Given the description of an element on the screen output the (x, y) to click on. 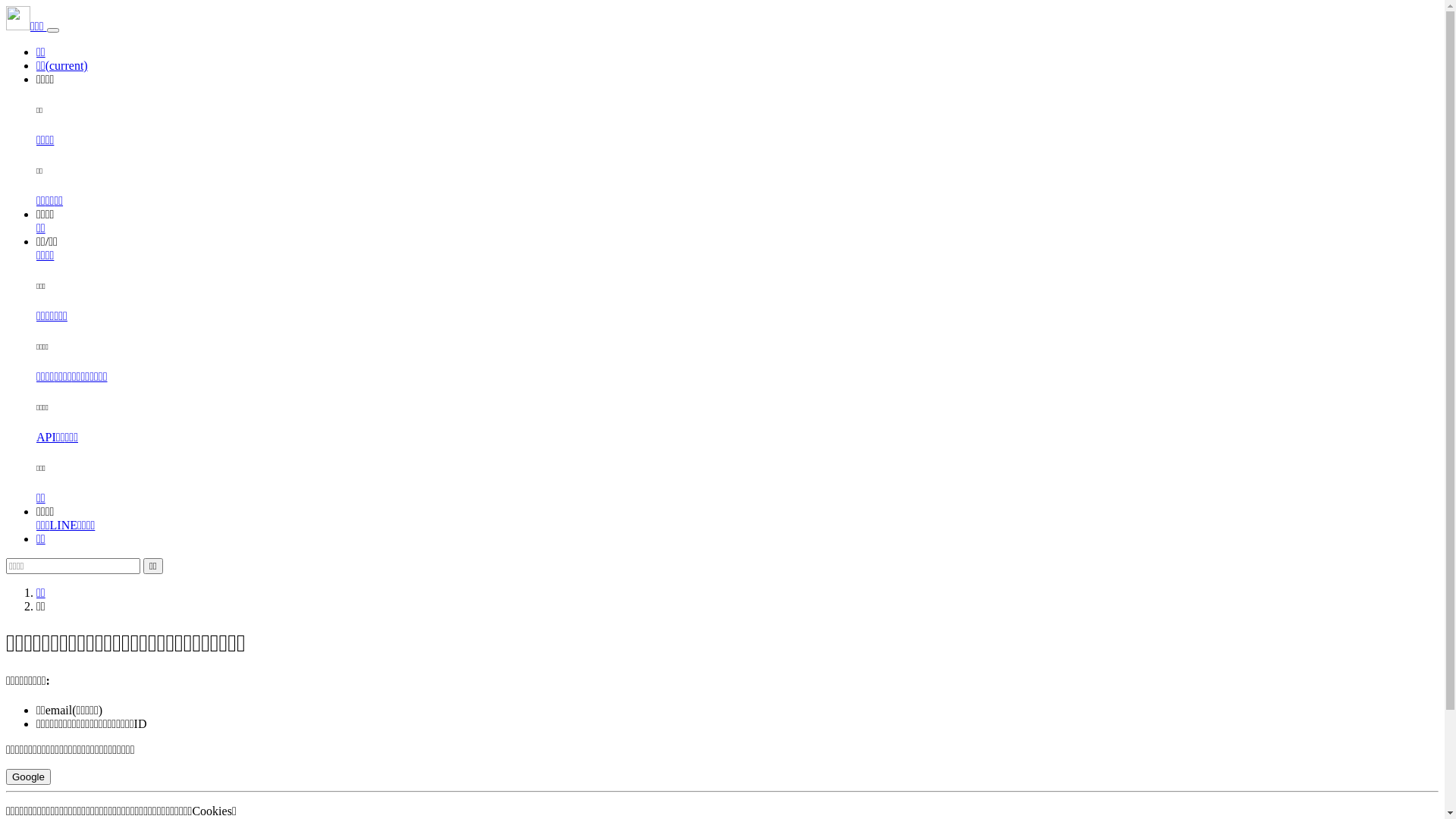
Google Element type: text (28, 776)
